Given the description of an element on the screen output the (x, y) to click on. 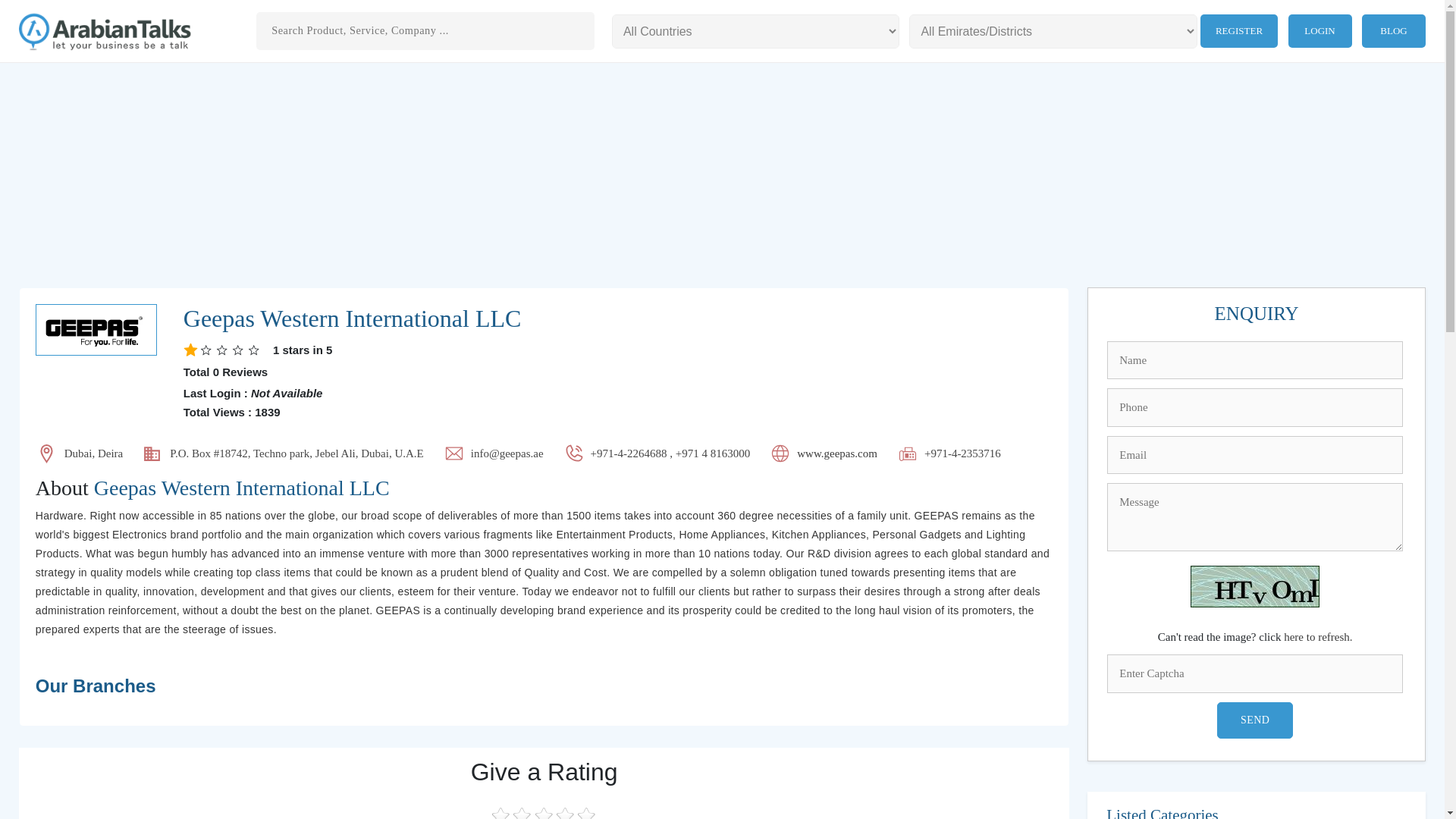
SEND (1254, 719)
Give a rating to Geepas Western International LLC (543, 771)
REGISTER (1238, 30)
Website of Geepas Western International LLC (836, 453)
LOGIN (1320, 30)
Geepas Western International LLC ,Dubai ,Deira (352, 317)
Sent enquiry to Geepas Western International LLC (1256, 313)
BLOG (1393, 30)
Fax of Geepas Western International LLC (962, 453)
About Geepas Western International LLC (543, 488)
Phone of Geepas Western International LLC (671, 453)
Address of Geepas Western International LLC (296, 453)
Location of Geepas Western International LLC (93, 453)
Email of Geepas Western International LLC (506, 453)
